Given the description of an element on the screen output the (x, y) to click on. 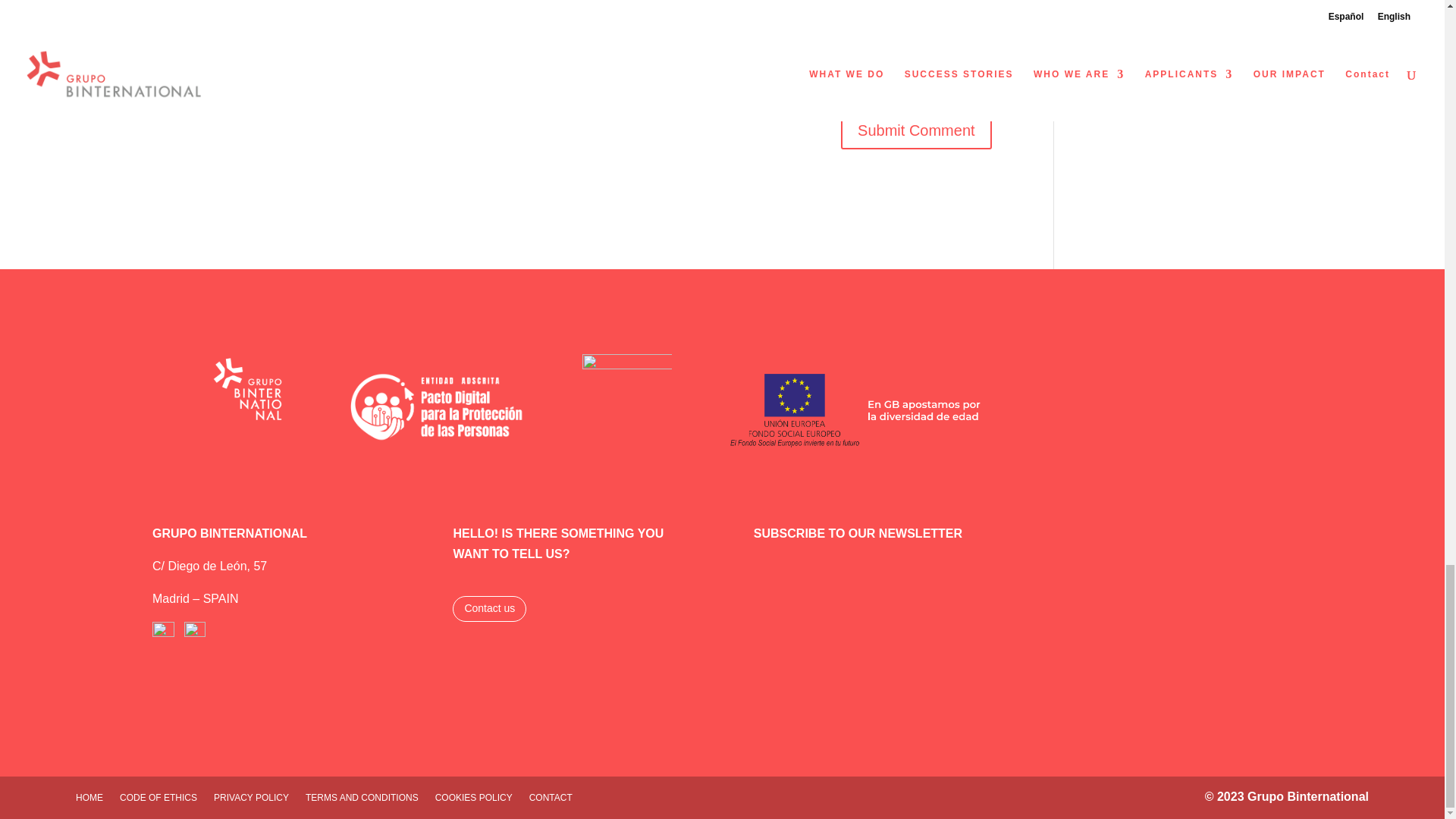
FSE GB (856, 410)
Submit Comment (916, 130)
yes (160, 88)
Submit Comment (916, 130)
Form 1 (1023, 648)
